Given the description of an element on the screen output the (x, y) to click on. 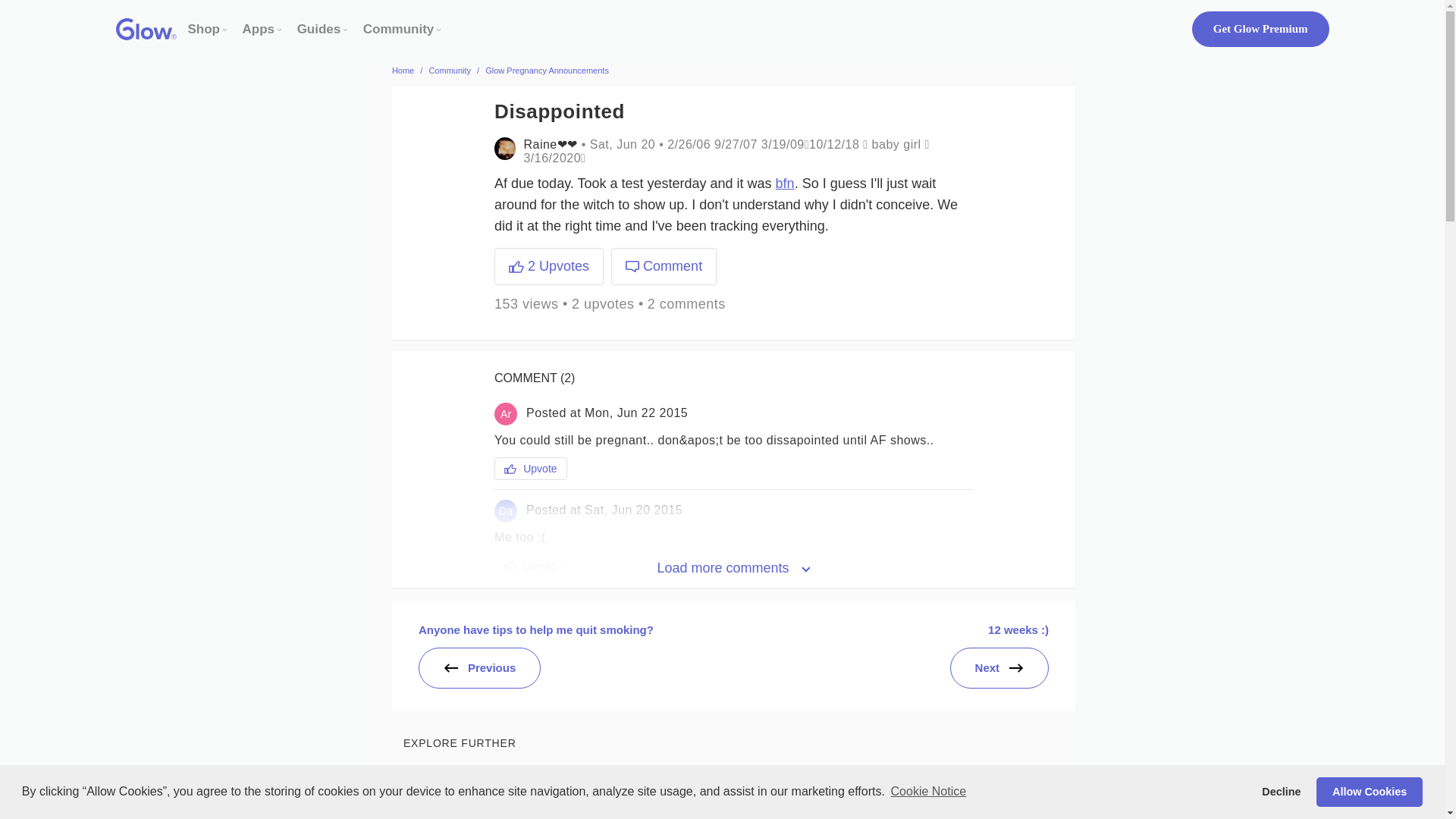
Glow Community (397, 28)
Glow Shop (204, 28)
Apps (259, 28)
Cookie Notice (928, 791)
Shop (204, 28)
Decline (1281, 791)
Guides (318, 28)
Allow Cookies (1369, 791)
